Given the description of an element on the screen output the (x, y) to click on. 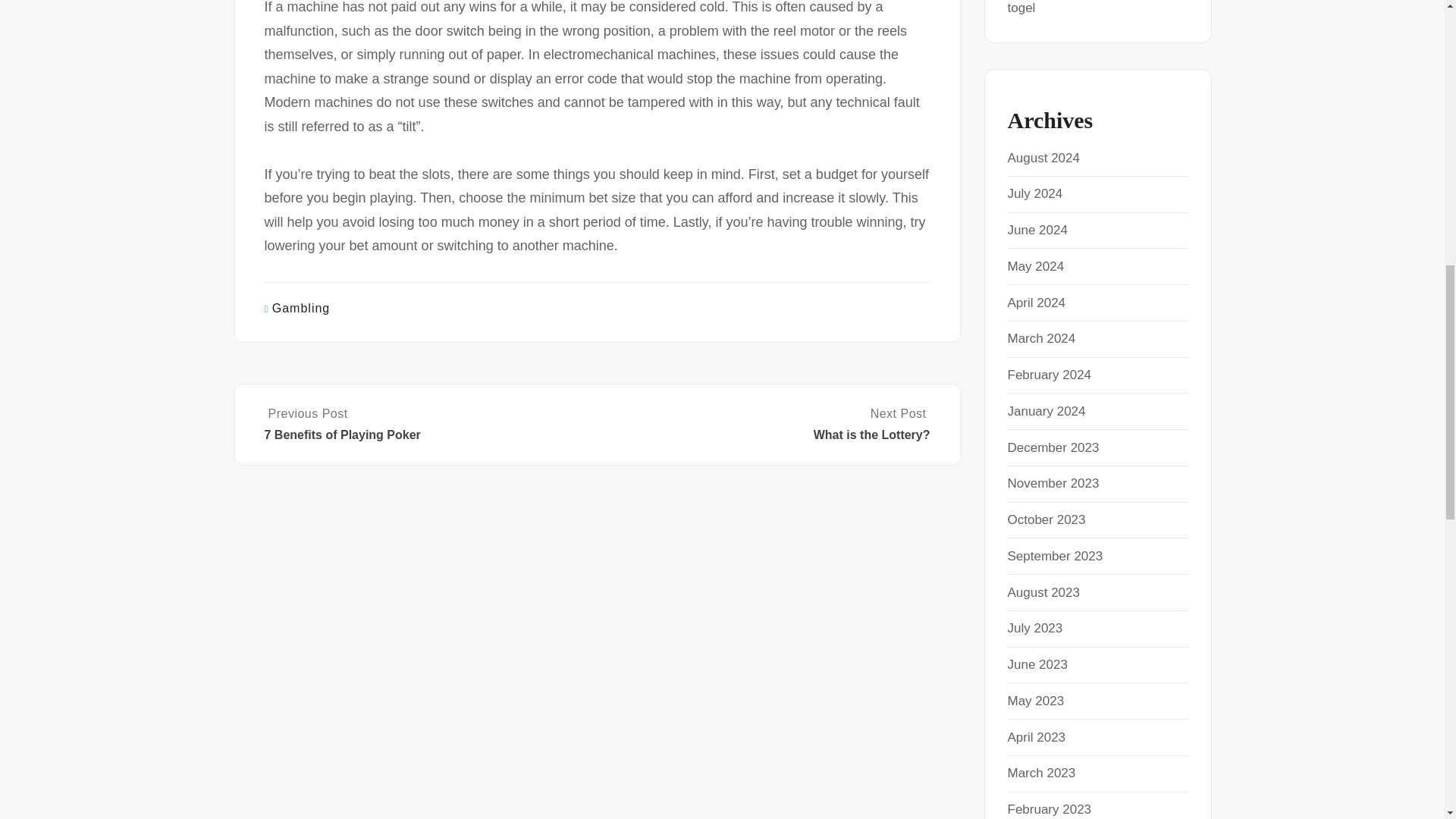
August 2024 (1042, 157)
May 2024 (1035, 266)
April 2024 (1036, 302)
Gambling (301, 308)
July 2024 (1034, 193)
March 2024 (1041, 338)
June 2024 (1037, 229)
September 2023 (1054, 555)
December 2023 (1053, 447)
June 2023 (1037, 664)
January 2024 (1045, 411)
July 2023 (1034, 627)
togel (1021, 7)
